Given the description of an element on the screen output the (x, y) to click on. 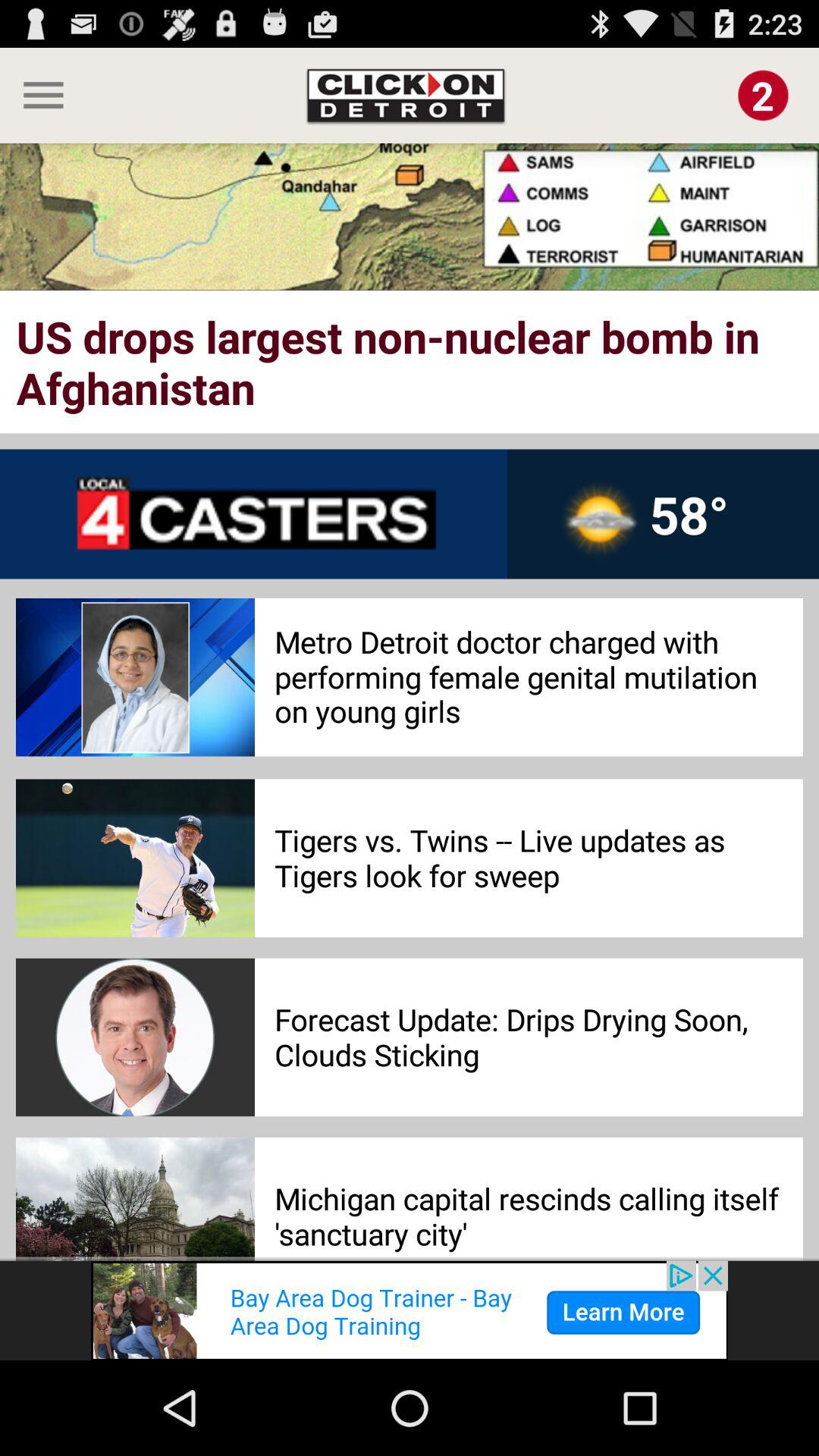
banner advertisement (409, 1310)
